Given the description of an element on the screen output the (x, y) to click on. 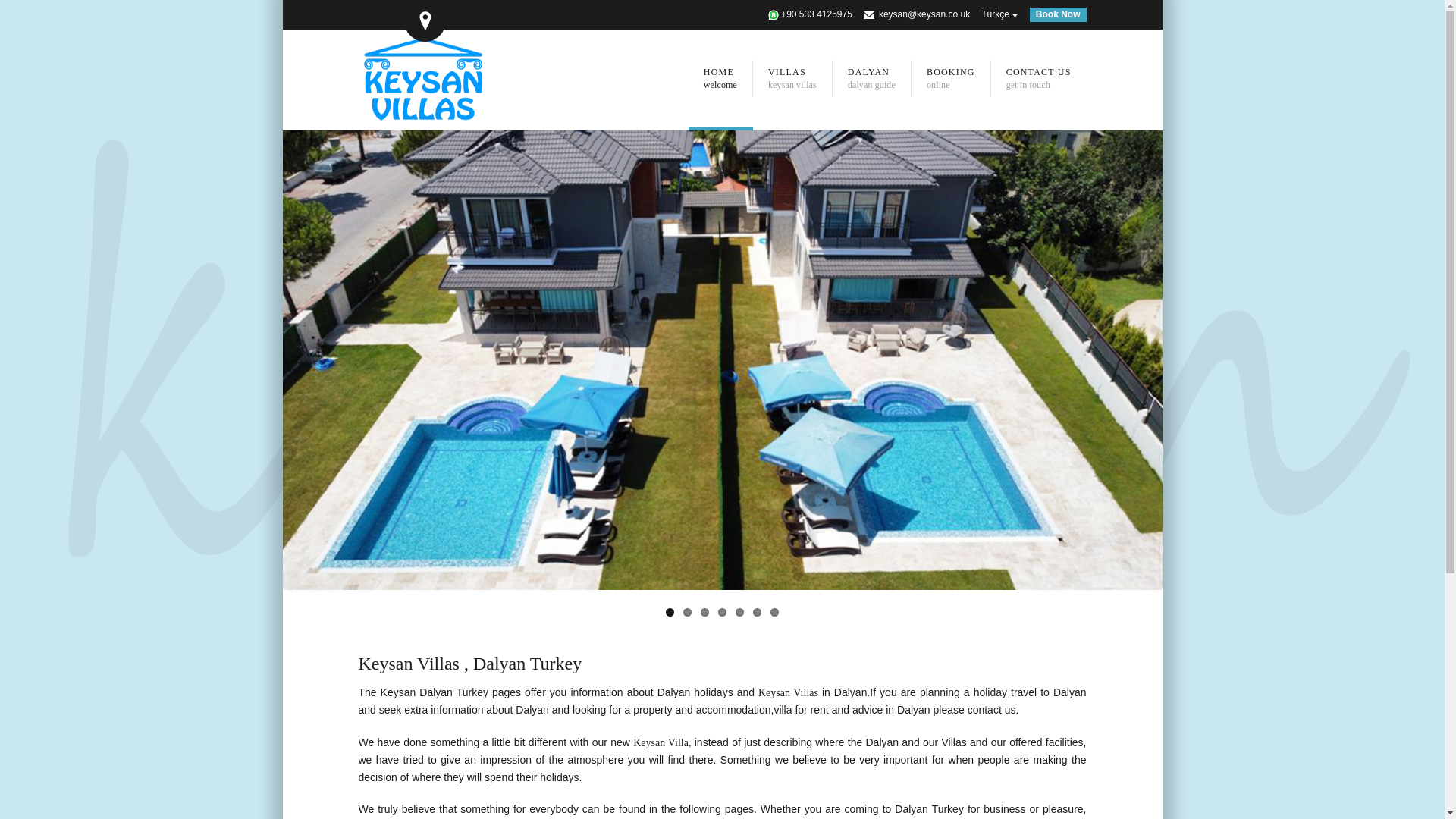
Contact to Keysan (1038, 78)
Book Now (1038, 78)
